Given the description of an element on the screen output the (x, y) to click on. 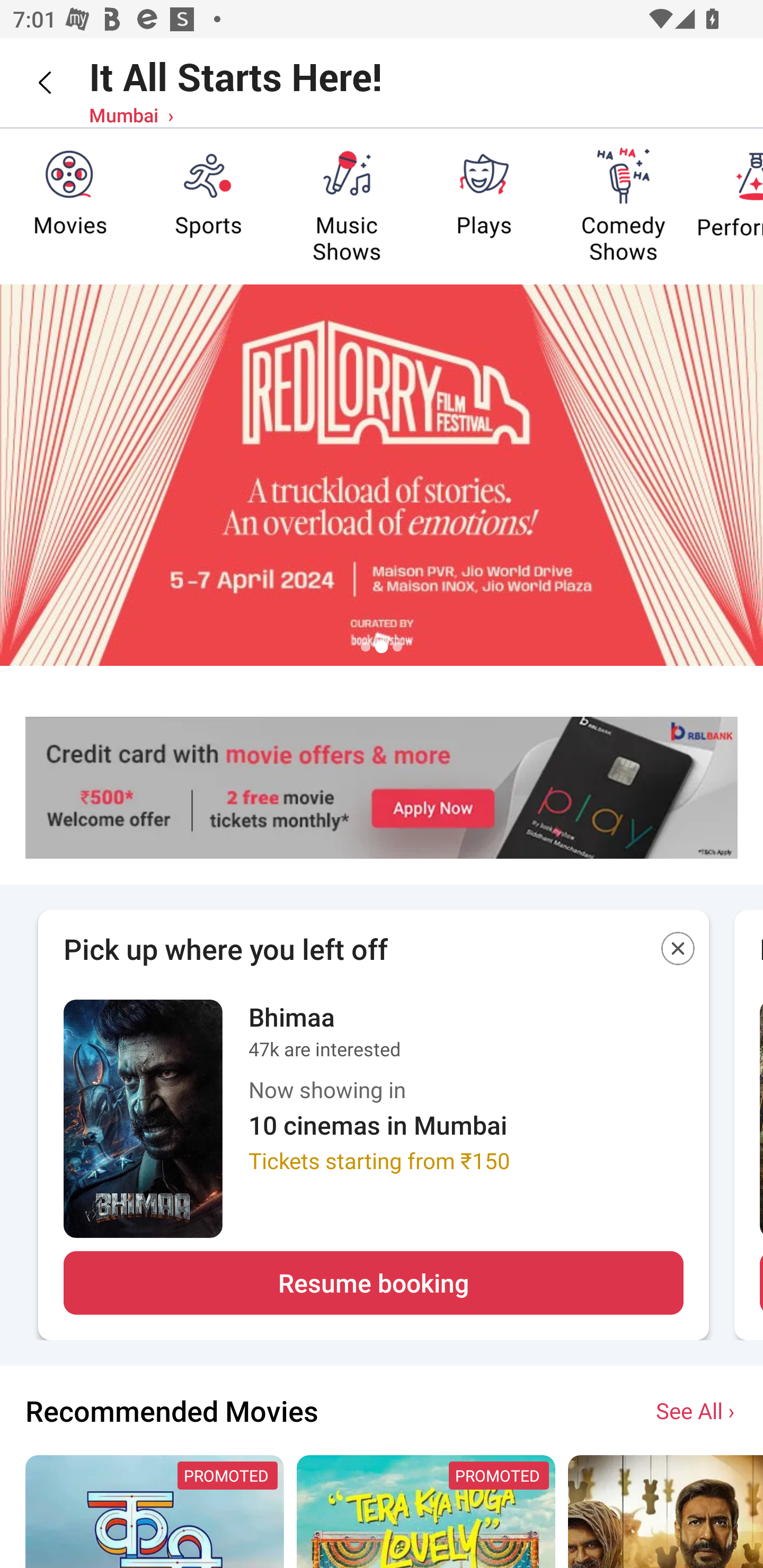
Back (31, 82)
It All Starts Here! (235, 75)
Mumbai  › (131, 114)
  (678, 952)
Resume booking (373, 1283)
See All › (696, 1410)
